Given the description of an element on the screen output the (x, y) to click on. 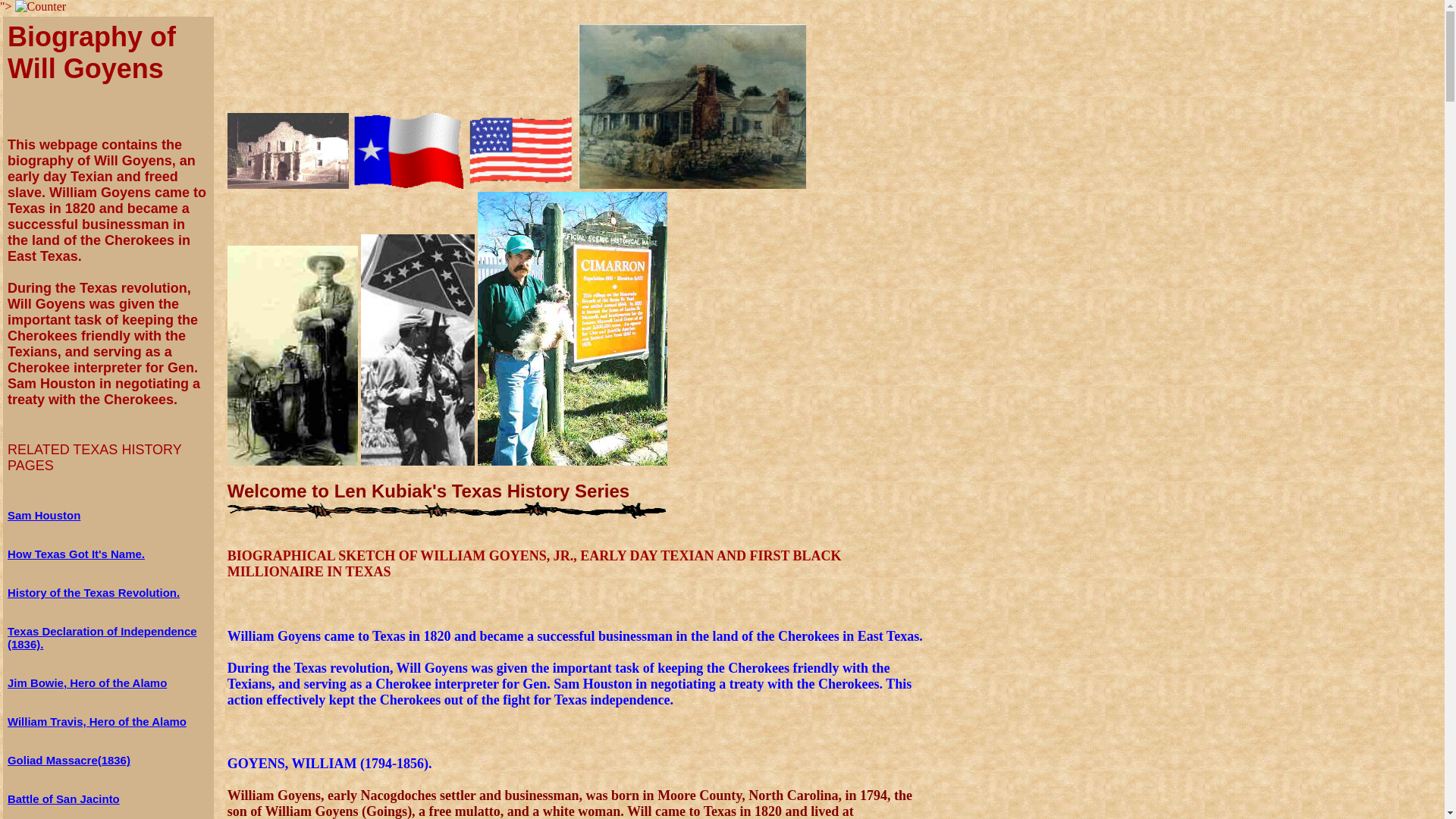
William Travis, Hero of the Alamo (96, 721)
Sam Houston (43, 514)
History of the Texas Revolution. (93, 592)
Battle of San Jacinto (63, 798)
How Texas Got It's Name. (75, 553)
Jim Bowie, Hero of the Alamo (87, 682)
